Given the description of an element on the screen output the (x, y) to click on. 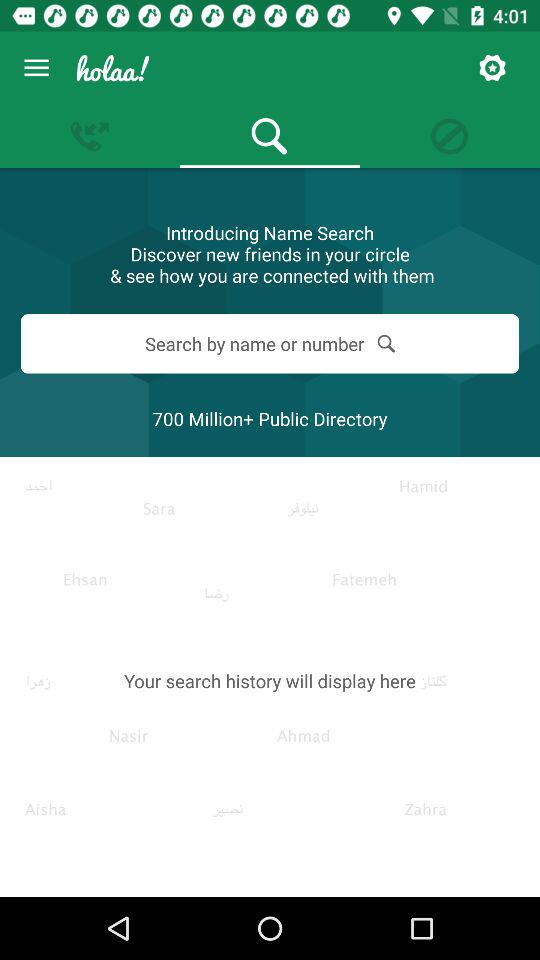
settings (492, 68)
